Given the description of an element on the screen output the (x, y) to click on. 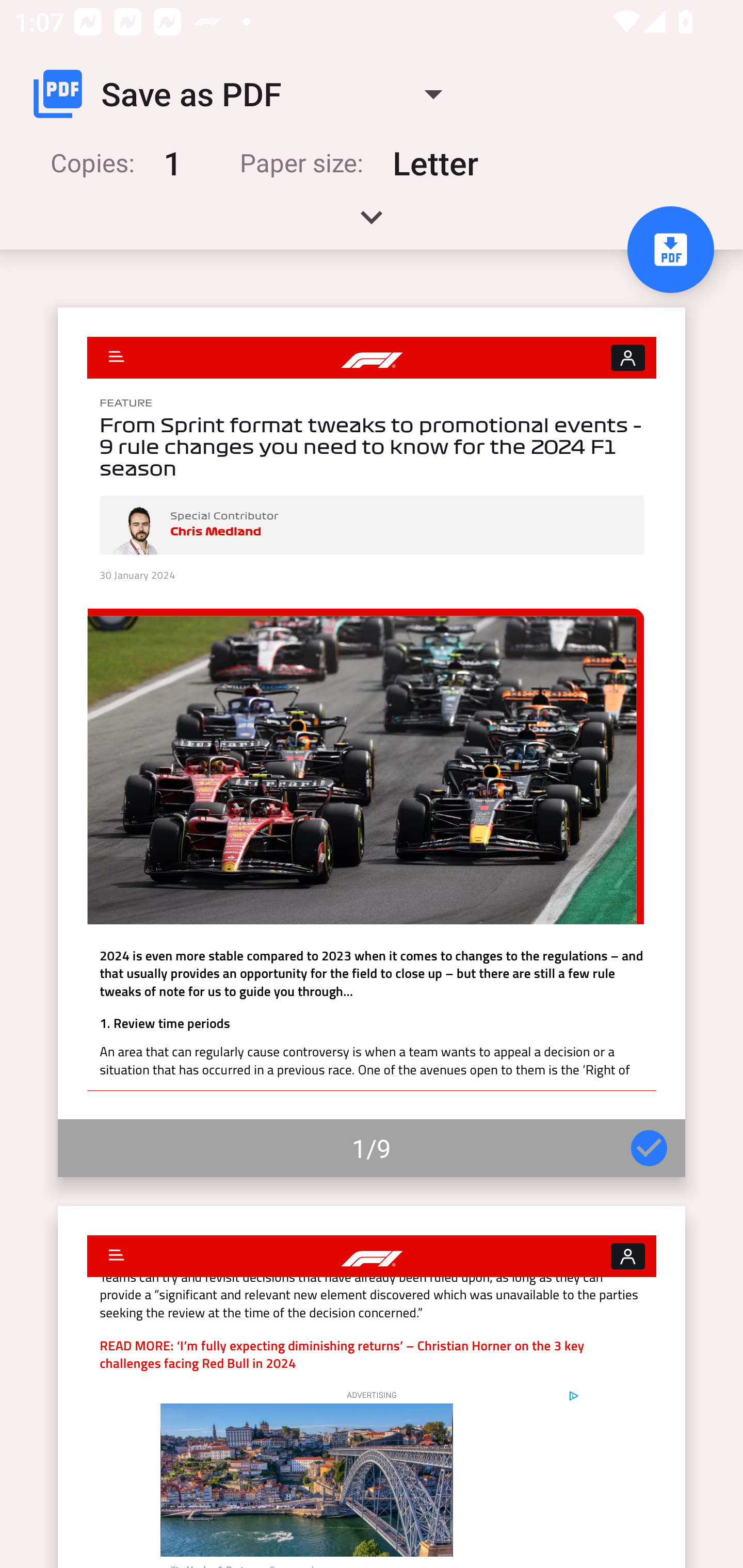
Save as PDF (245, 93)
Expand handle (371, 224)
Save to PDF (670, 249)
Page 1 of 9 1/9 (371, 742)
Page 2 of 9 (371, 1386)
